Given the description of an element on the screen output the (x, y) to click on. 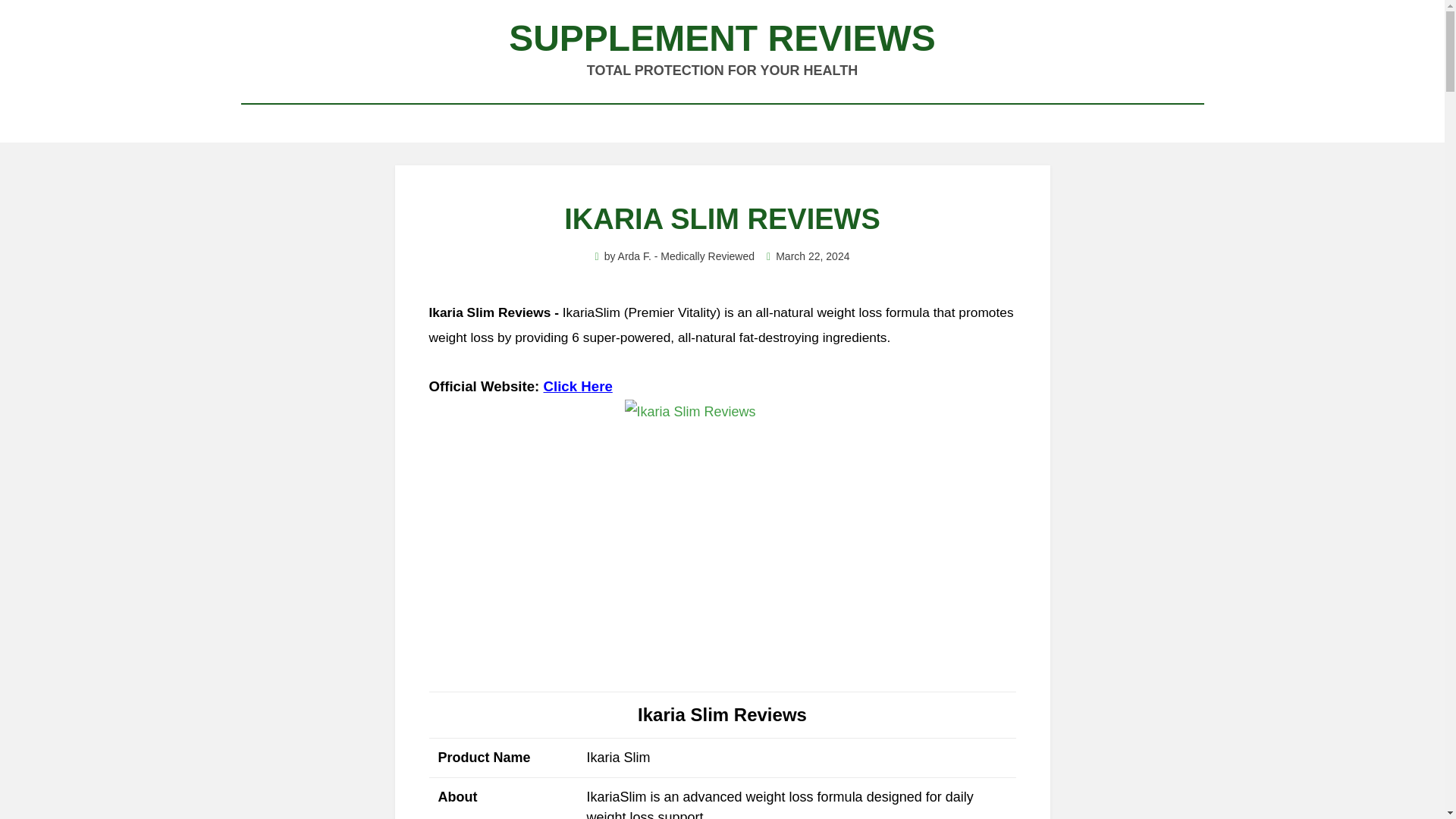
March 22, 2024 (807, 256)
Supplement Reviews (722, 38)
Click Here (577, 385)
Arda F. - Medically Reviewed (686, 256)
SUPPLEMENT REVIEWS (722, 38)
